Given the description of an element on the screen output the (x, y) to click on. 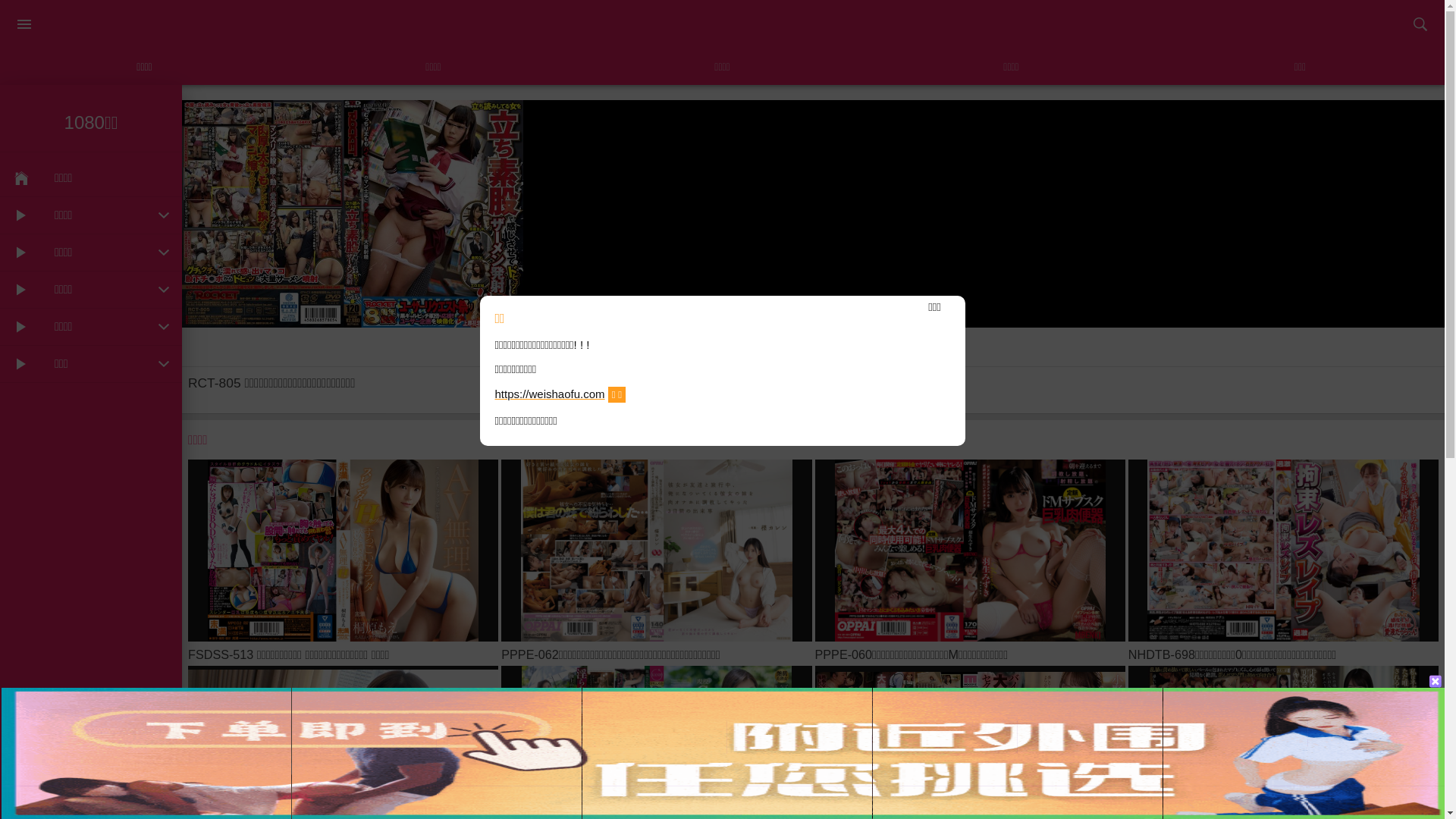
https://weishaofu.com Element type: text (549, 393)
